Given the description of an element on the screen output the (x, y) to click on. 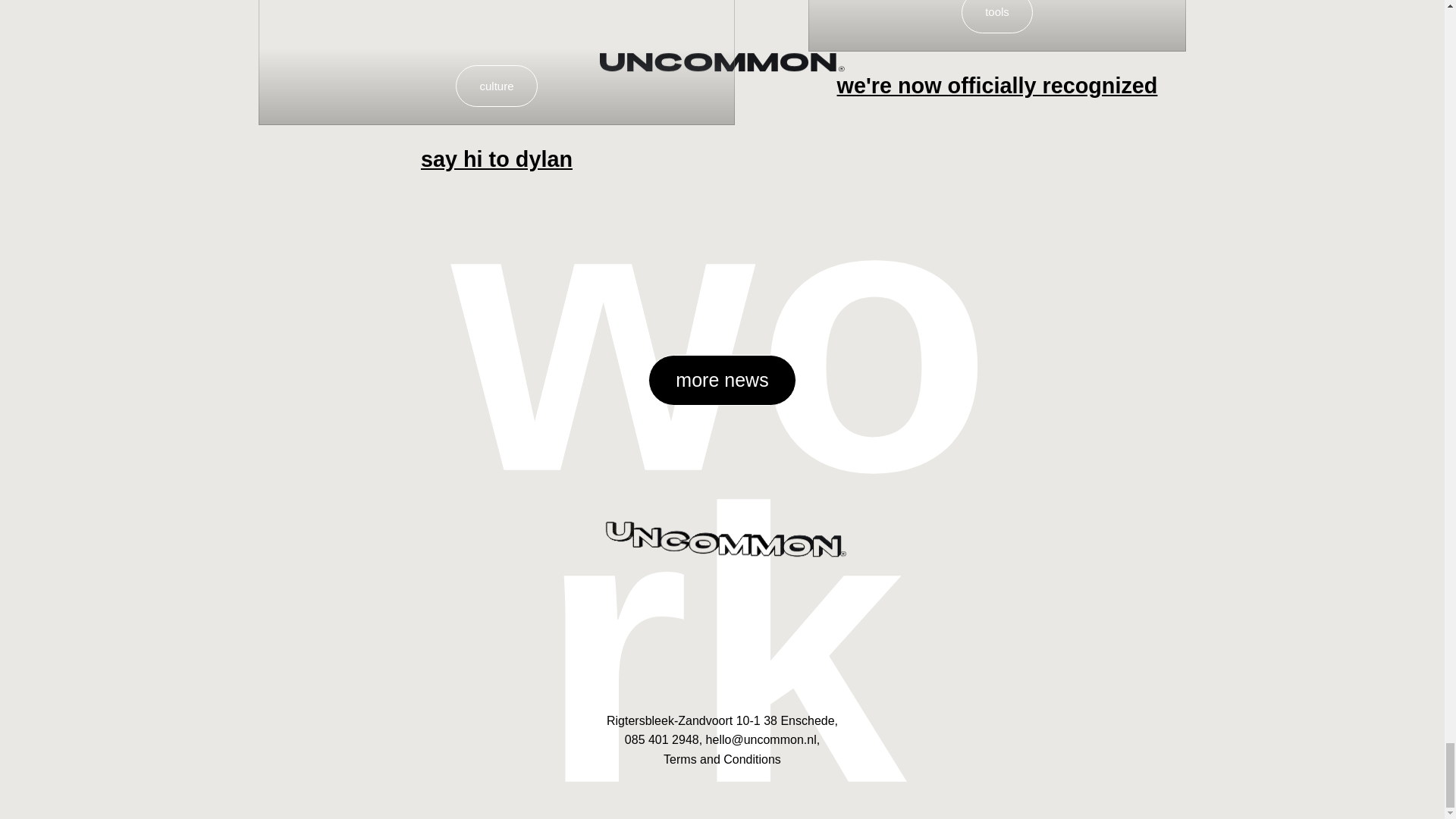
Terms and Conditions (721, 758)
085 401 2948 (661, 739)
more news (720, 379)
Rigtersbleek-Zandvoort 10-1 38 Enschede (720, 720)
